Given the description of an element on the screen output the (x, y) to click on. 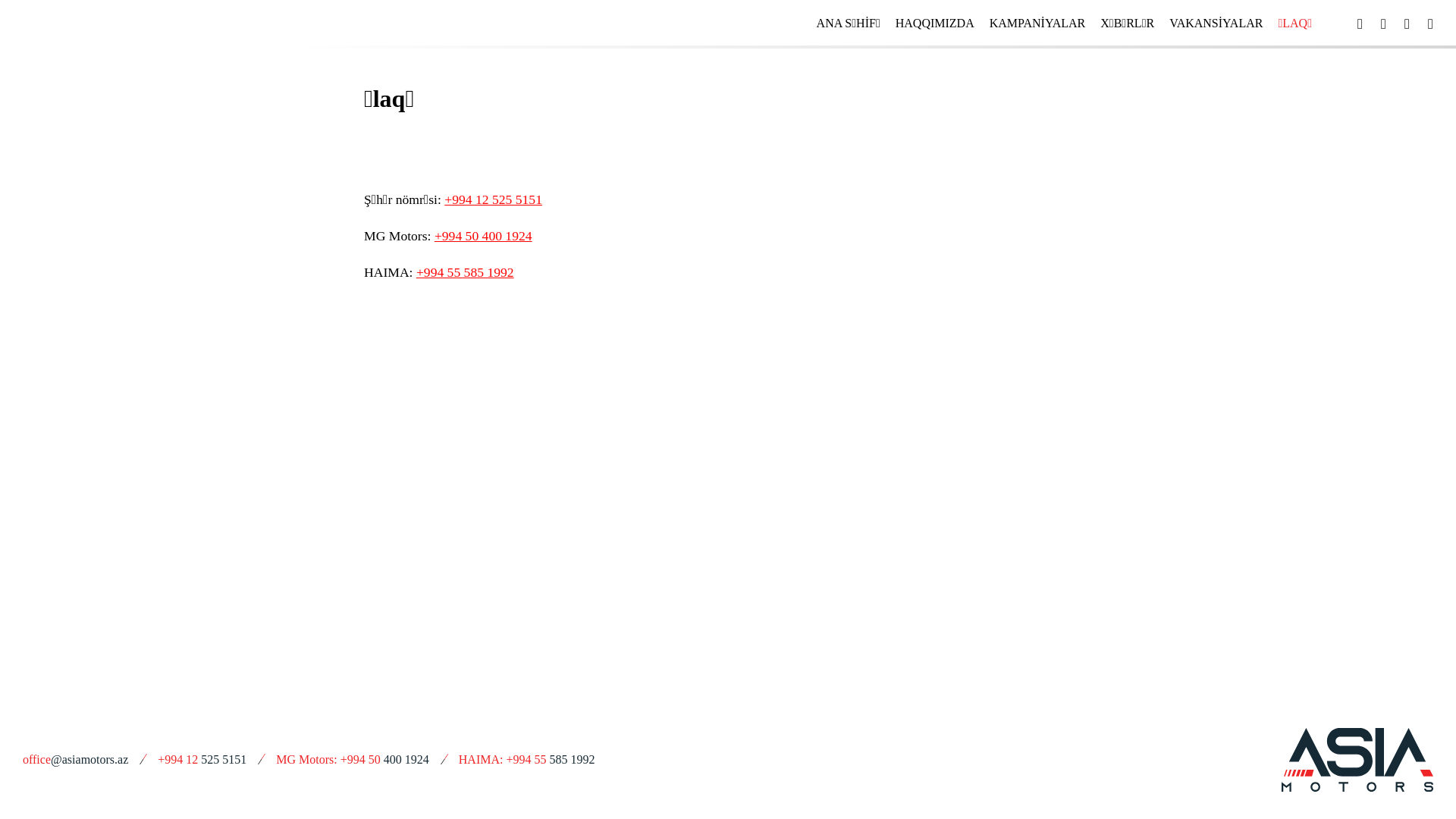
HAQQIMIZDA Element type: text (934, 22)
+994 50 400 1924 Element type: text (483, 235)
office@asiamotors.az Element type: text (84, 758)
+994 55 585 1992 Element type: text (465, 271)
+994 12 525 5151 Element type: text (493, 199)
+994 12 525 5151 Element type: text (211, 758)
MG Motors: +994 50 400 1924 Element type: text (361, 758)
HAIMA: +994 55 585 1992 Element type: text (536, 758)
